Given the description of an element on the screen output the (x, y) to click on. 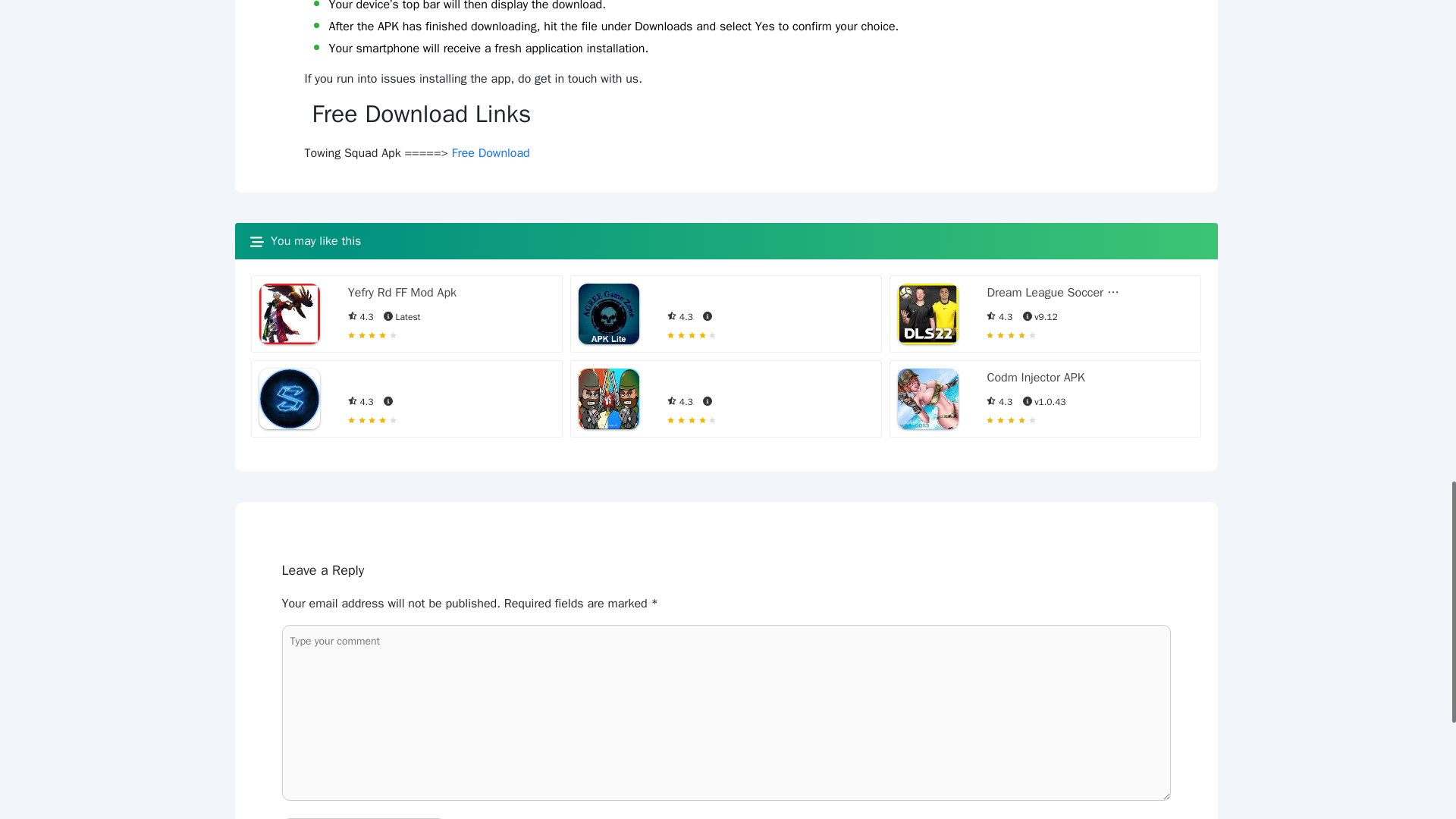
Dream League Soccer Mod Apk (1054, 292)
Codm Injector APK (1035, 377)
Free Download (490, 152)
Yefry Rd FF Mod Apk (402, 292)
